Given the description of an element on the screen output the (x, y) to click on. 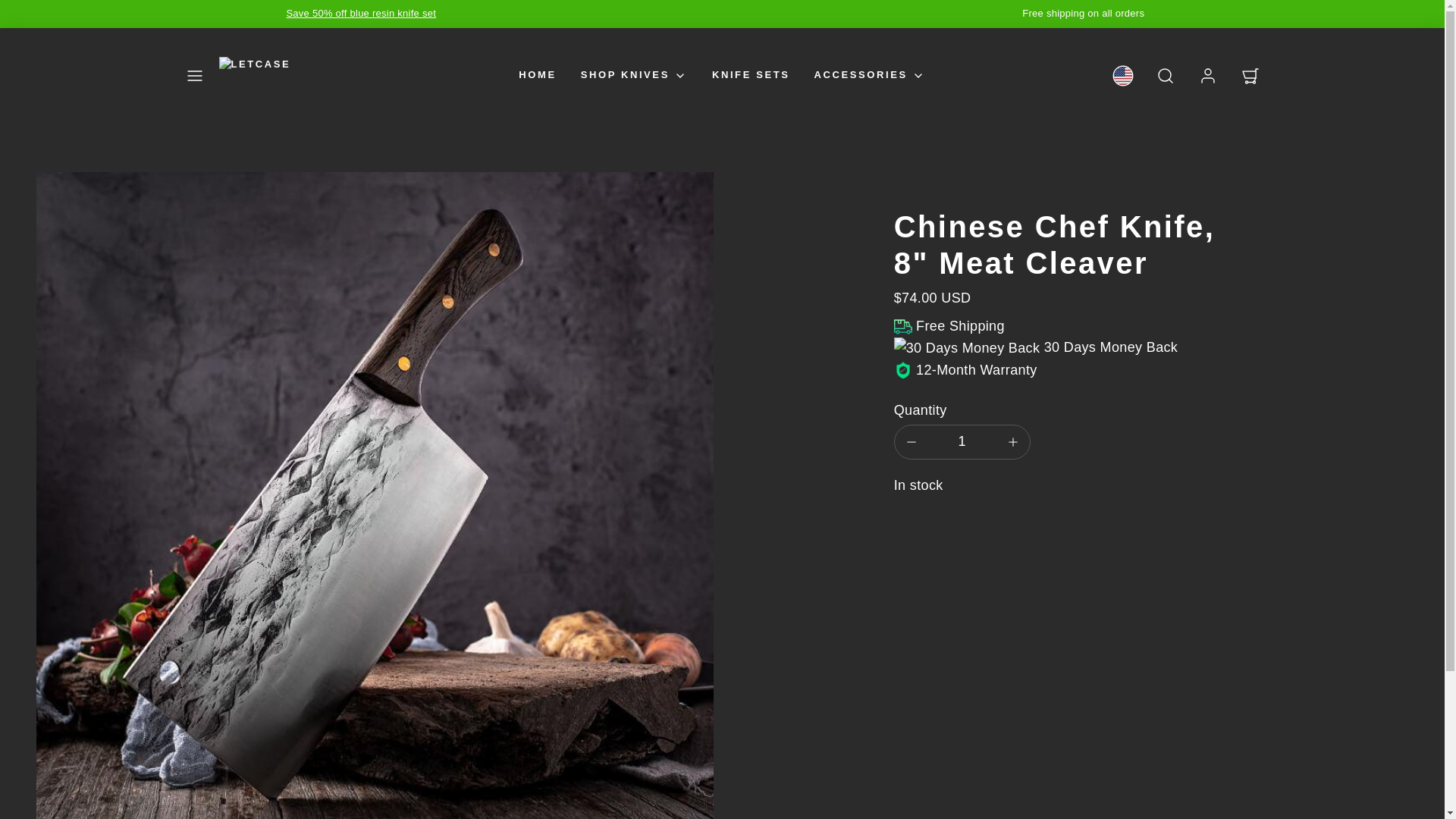
1 (961, 441)
HOME (536, 75)
KNIFE SETS (751, 75)
SEARCH (1165, 75)
SHOP KNIVES (634, 75)
ACCESSORIES (869, 75)
MENU (194, 75)
ACCOUNT (1207, 75)
